Given the description of an element on the screen output the (x, y) to click on. 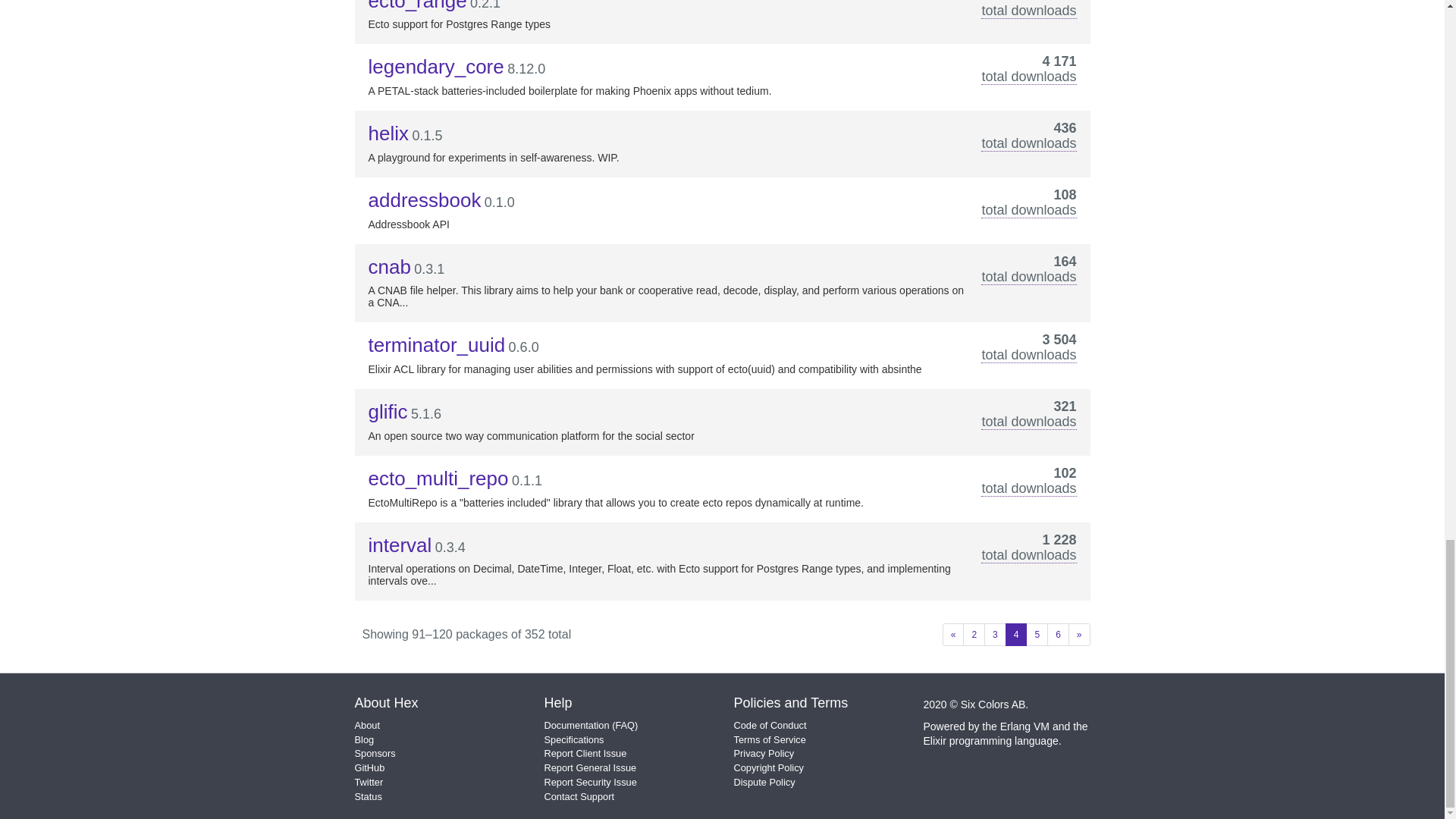
addressbook (424, 200)
helix (388, 133)
cnab (389, 266)
